Given the description of an element on the screen output the (x, y) to click on. 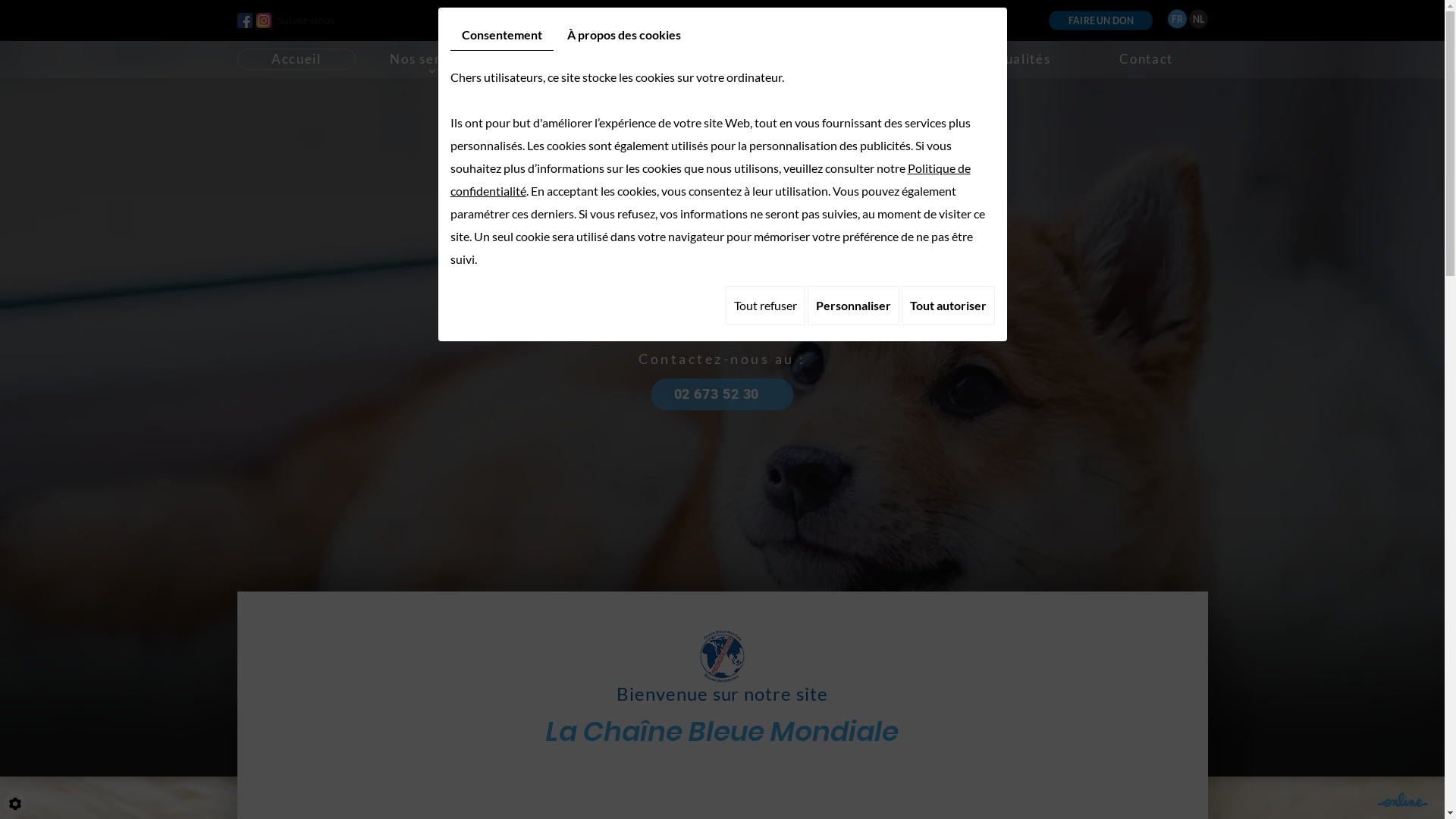
Contact Element type: text (1146, 58)
Accueil Element type: text (295, 58)
Consentement Element type: text (501, 34)
Contactez-nous au :
02 673 52 30 Element type: text (722, 382)
Tout autoriser Element type: text (947, 305)
Tout refuser Element type: text (764, 305)
Nos services Element type: text (432, 58)
Informations Element type: text (869, 58)
NL Element type: text (1198, 16)
FR Element type: text (1176, 16)
Aidez-nous Element type: text (718, 58)
Adoptions Element type: text (577, 58)
Personnaliser Element type: text (852, 305)
FAIRE UN DON Element type: text (1100, 17)
